Given the description of an element on the screen output the (x, y) to click on. 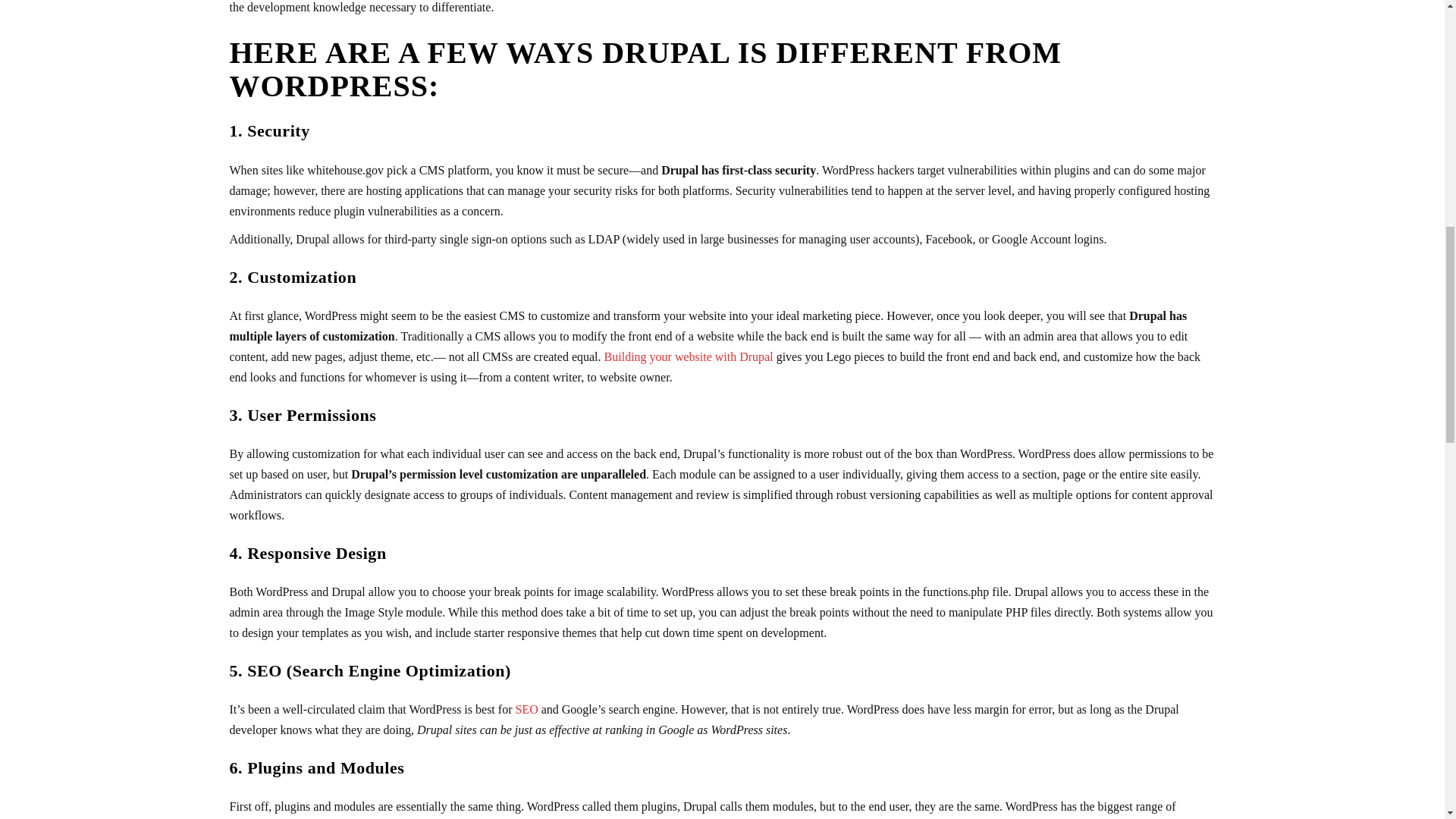
Search Engine Optimization Services (526, 708)
Drupal Website Development (688, 356)
